Given the description of an element on the screen output the (x, y) to click on. 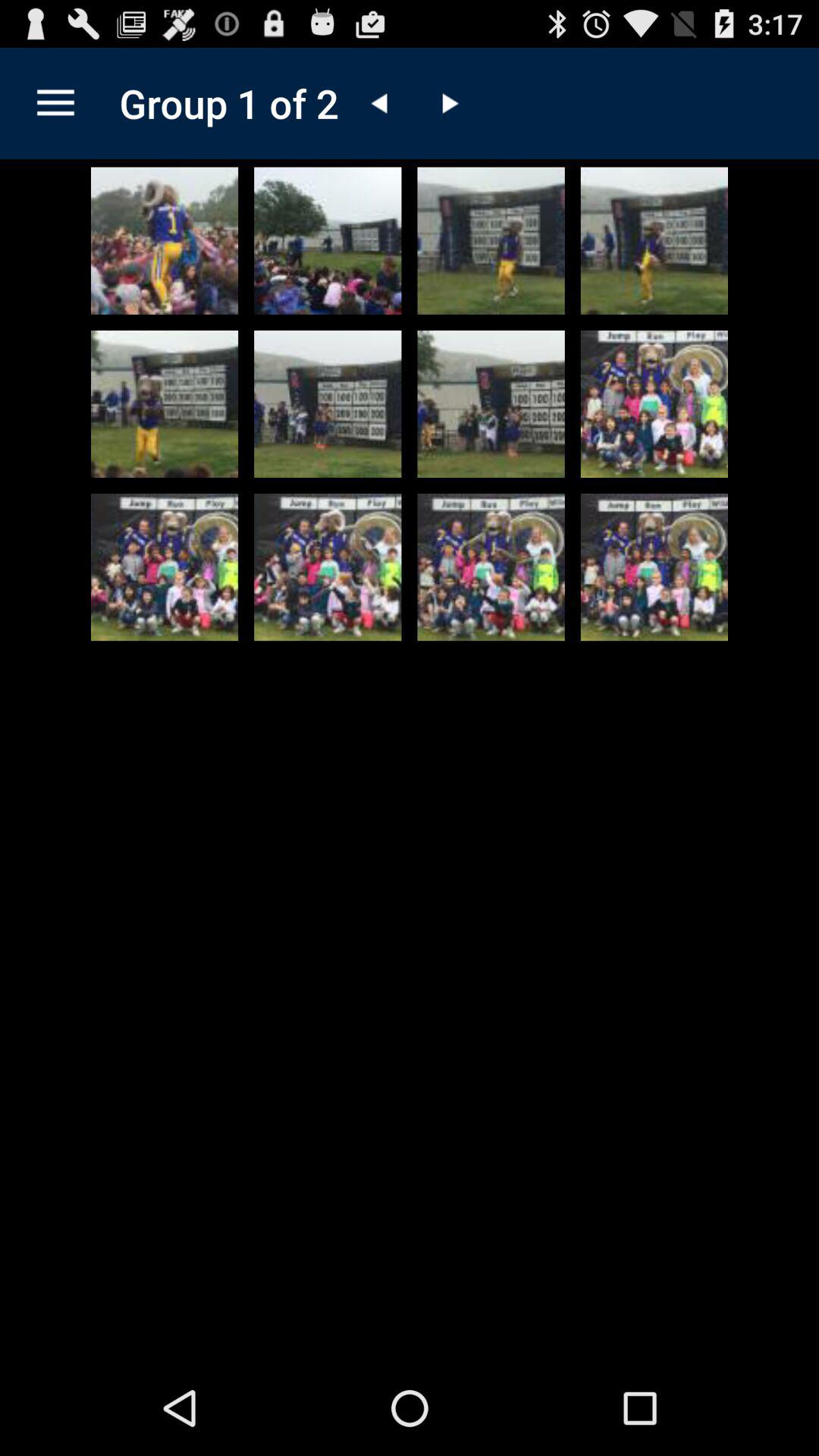
next page (448, 103)
